Given the description of an element on the screen output the (x, y) to click on. 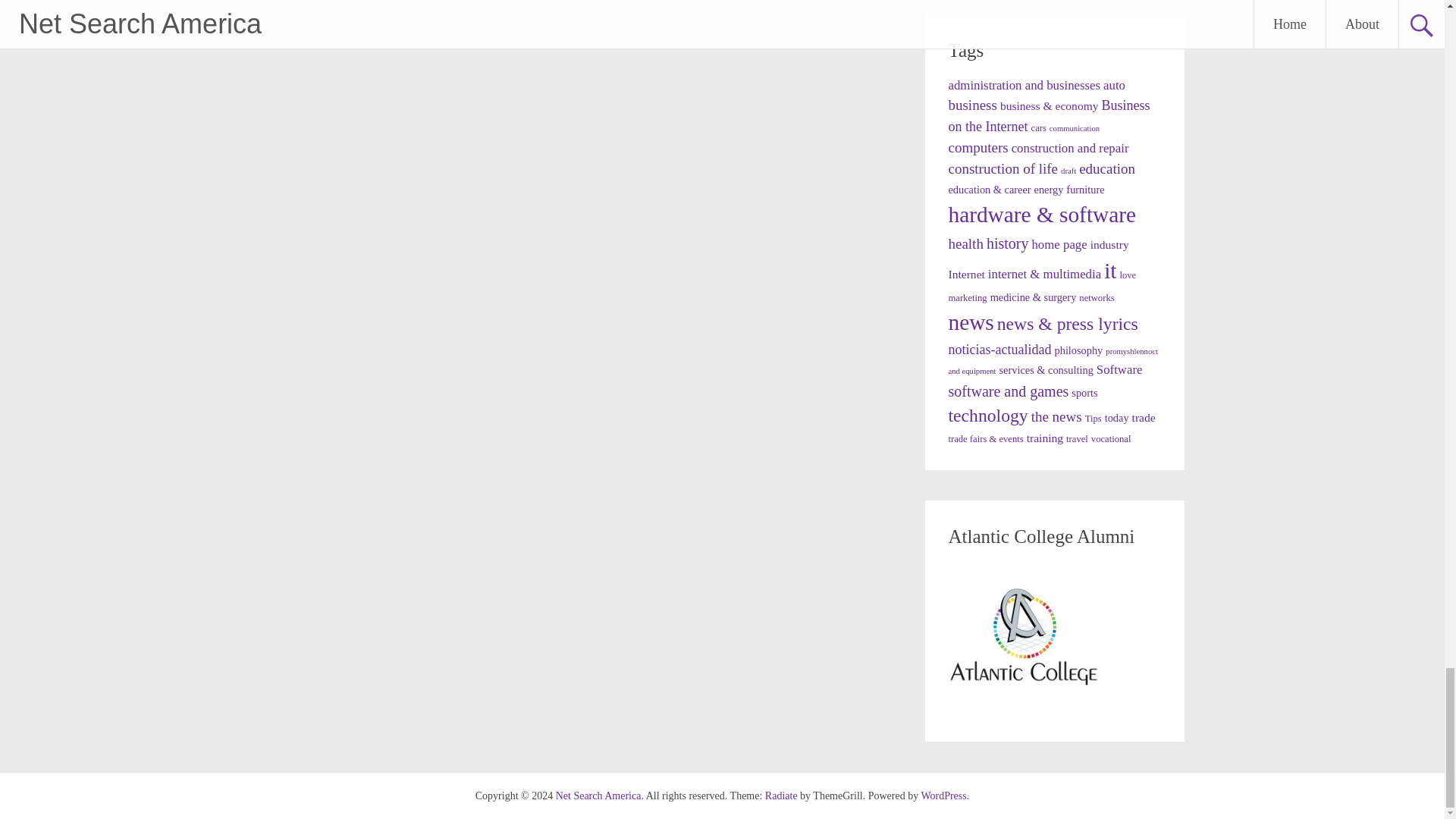
WordPress (943, 795)
Net Search America (599, 795)
Radiate (781, 795)
